Given the description of an element on the screen output the (x, y) to click on. 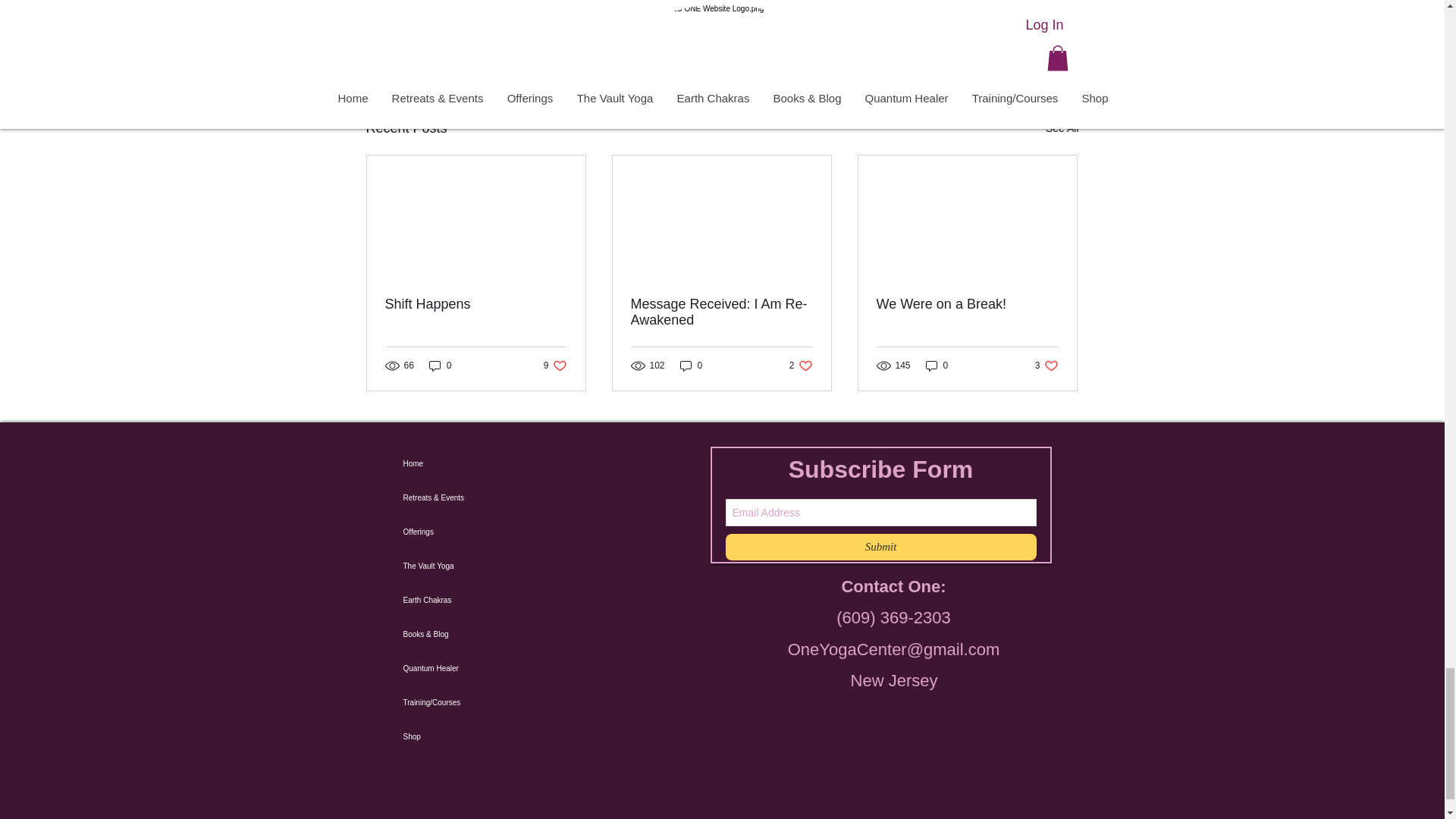
Message Received: I Am Re-Awakened (721, 312)
0 (990, 45)
Shift Happens (555, 364)
See All (440, 364)
